Given the description of an element on the screen output the (x, y) to click on. 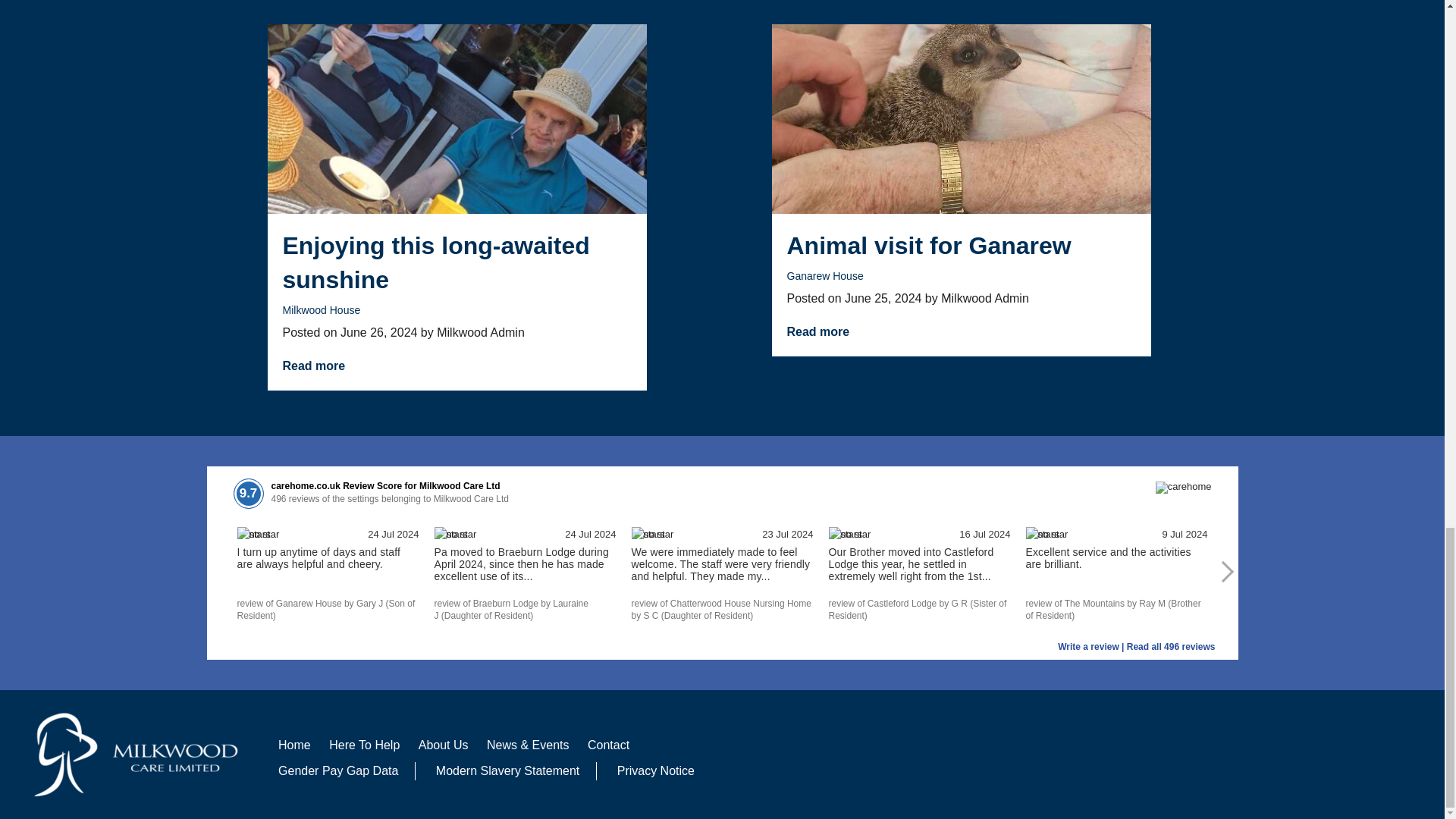
Home (294, 745)
Read more (818, 331)
Contact (608, 745)
Ganarew House (825, 275)
Milkwood House (320, 309)
Here To Help (364, 745)
Enjoying this long-awaited sunshine (456, 263)
About Us (443, 745)
Read more (313, 365)
Read all 496 reviews (1170, 646)
Animal visit for Ganarew (961, 245)
